Given the description of an element on the screen output the (x, y) to click on. 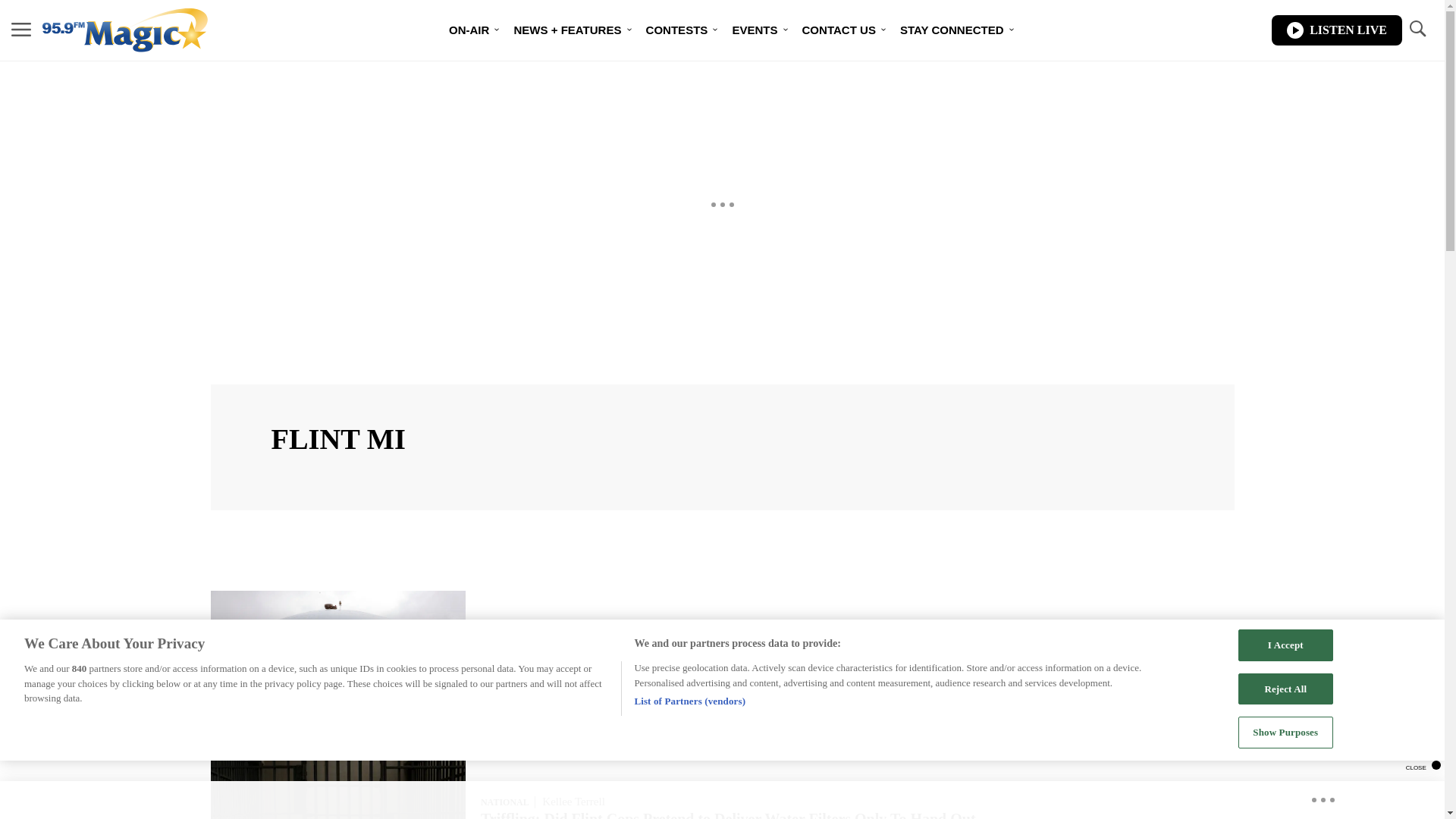
STAY CONNECTED (952, 30)
ON-AIR (468, 30)
EVENTS (754, 30)
Kellee Terrell (573, 801)
LISTEN LIVE (1336, 30)
MENU (20, 30)
CONTESTS (676, 30)
TOGGLE SEARCH (1417, 30)
NATIONAL (504, 633)
TOGGLE SEARCH (1417, 28)
MENU (20, 29)
CONTACT US (839, 30)
NATIONAL (504, 801)
Kellee Terrell (573, 633)
